Given the description of an element on the screen output the (x, y) to click on. 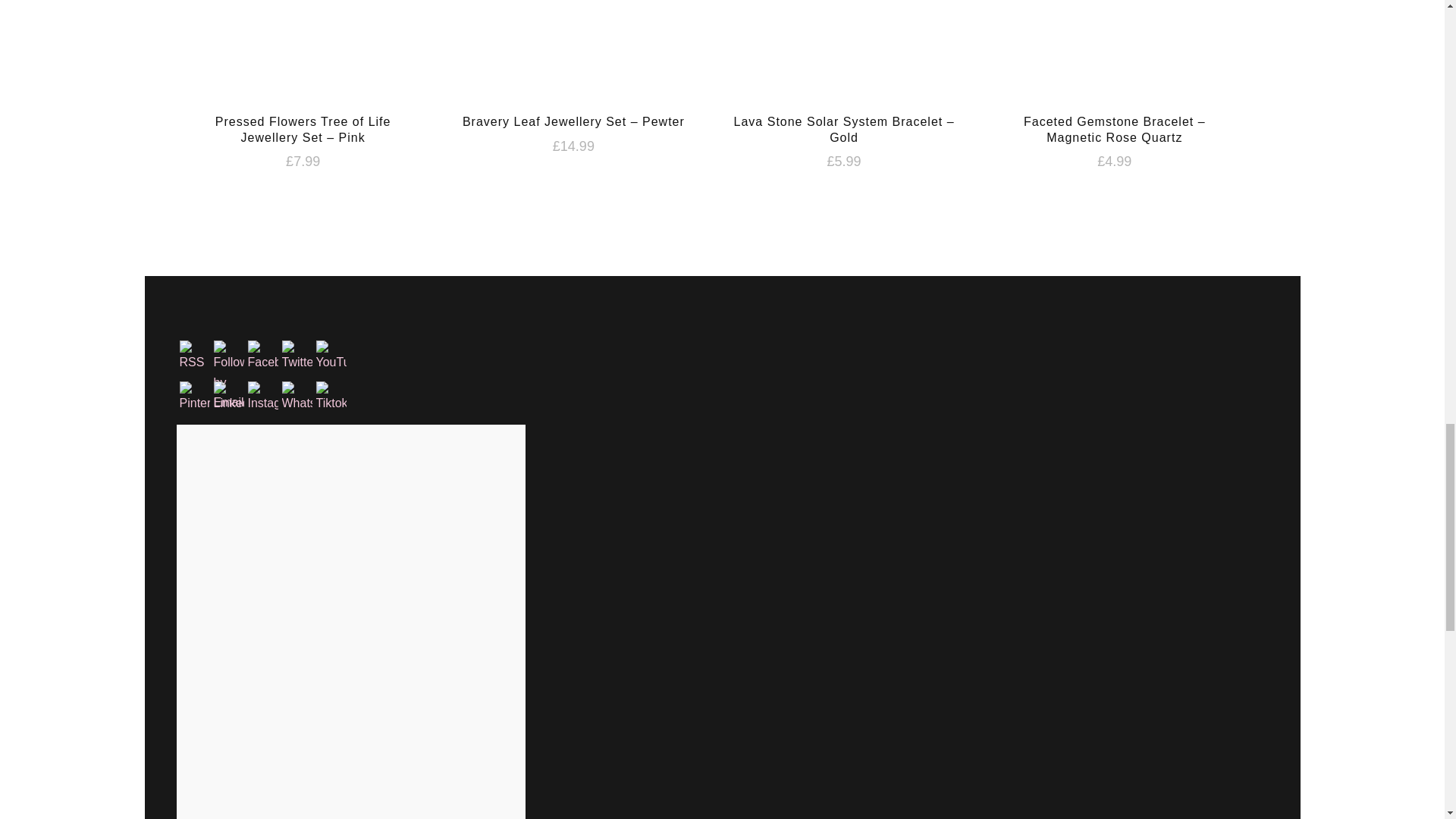
Twitter (297, 356)
Facebook (262, 356)
RSS (194, 356)
